Given the description of an element on the screen output the (x, y) to click on. 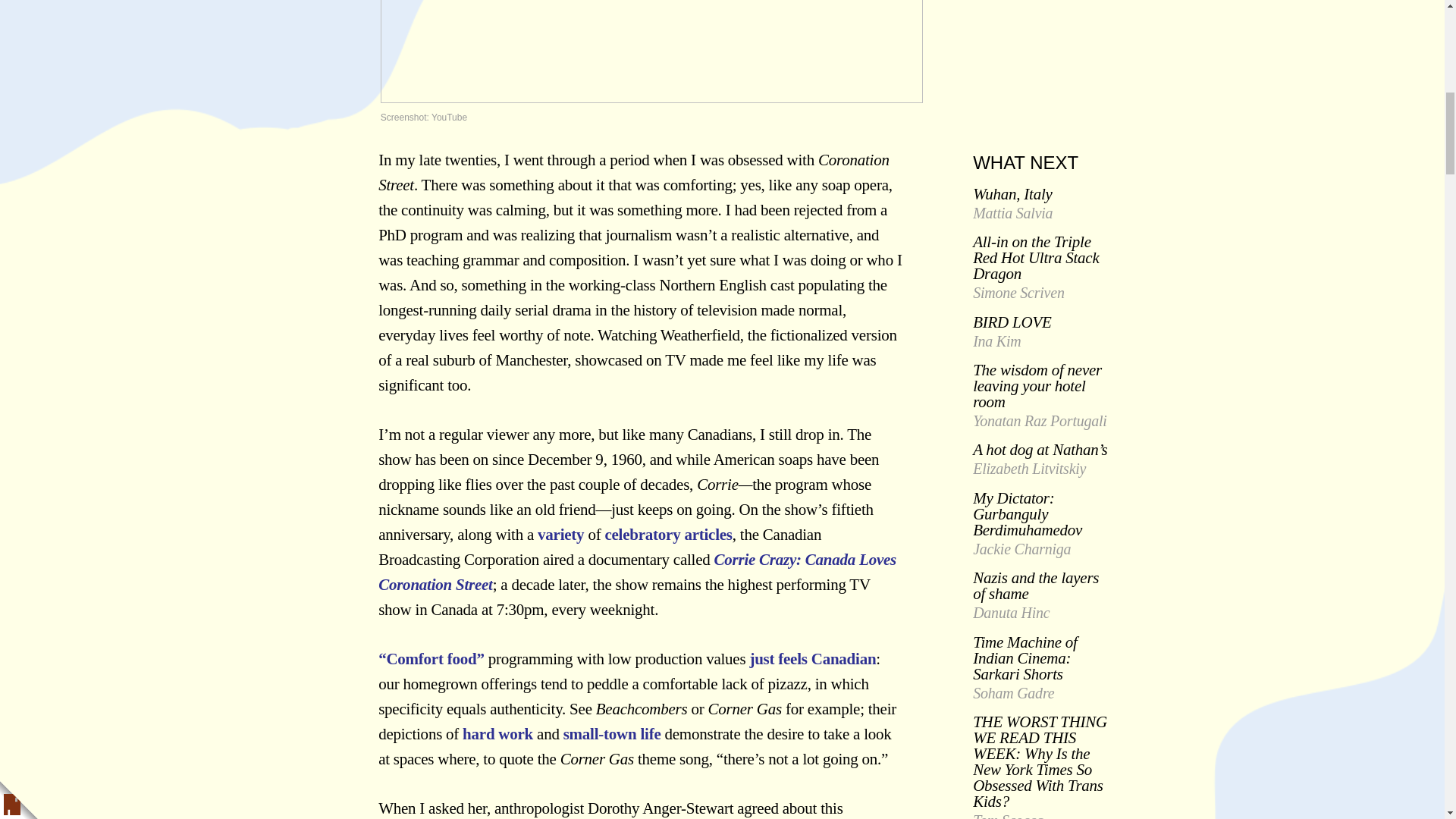
The wisdom of never leaving your hotel room (1037, 386)
Time Machine of Indian Cinema: Sarkari Shorts (1024, 658)
My Dictator: Gurbanguly Berdimuhamedov (1026, 513)
Wuhan, Italy (1011, 194)
Nazis and the layers of shame (1035, 585)
BIRD LOVE (1011, 321)
All-in on the Triple Red Hot Ultra Stack Dragon (1035, 257)
